Given the description of an element on the screen output the (x, y) to click on. 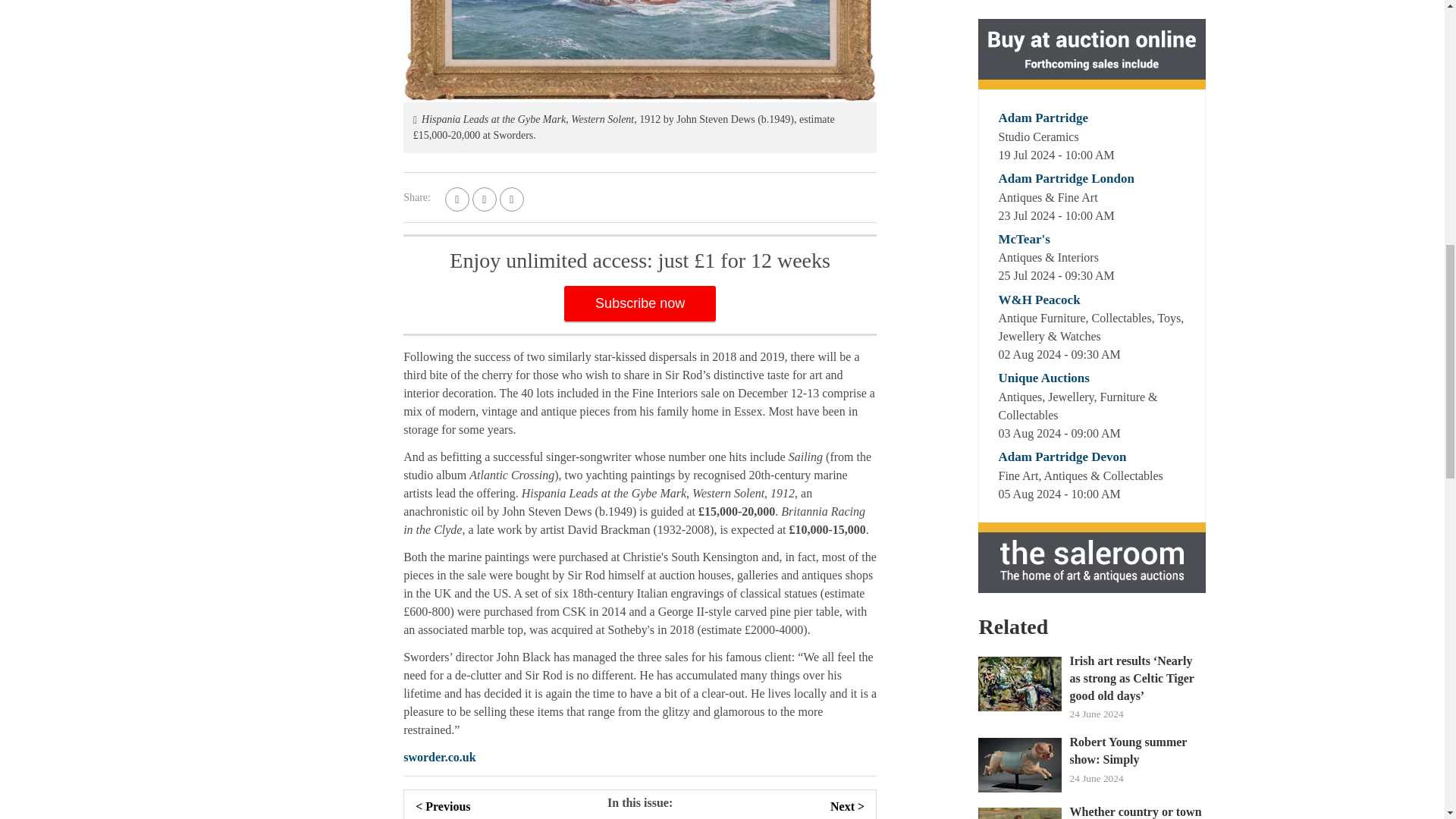
the saleroom (1091, 557)
3rd party ad content (1091, 6)
Robert Young summer show: Simply (1136, 750)
the saleroom (1091, 53)
